Given the description of an element on the screen output the (x, y) to click on. 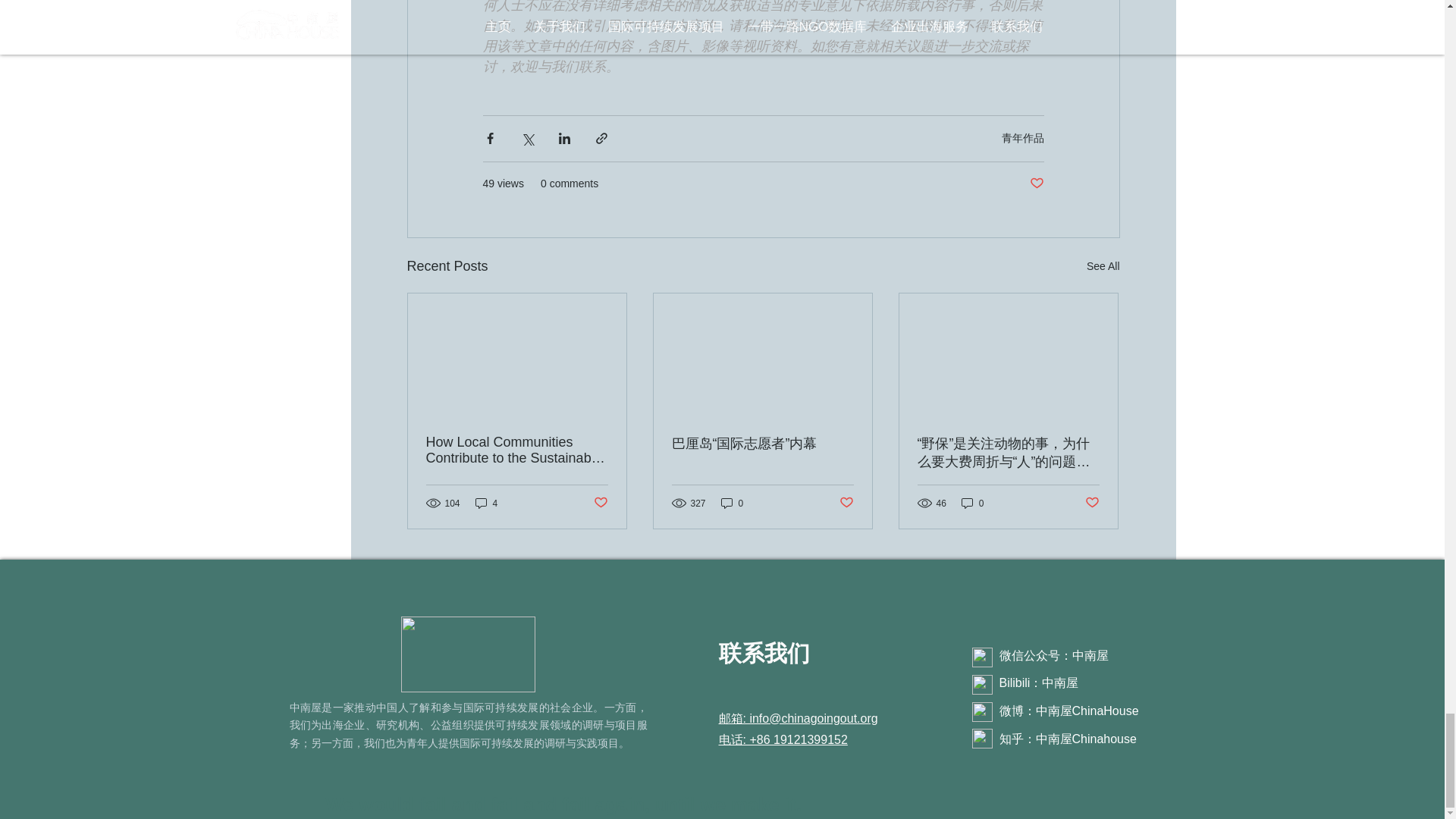
4 (486, 503)
0 (972, 503)
Post not marked as liked (1036, 183)
0 (732, 503)
Post not marked as liked (1091, 503)
See All (1102, 266)
Post not marked as liked (845, 503)
Post not marked as liked (599, 503)
